Given the description of an element on the screen output the (x, y) to click on. 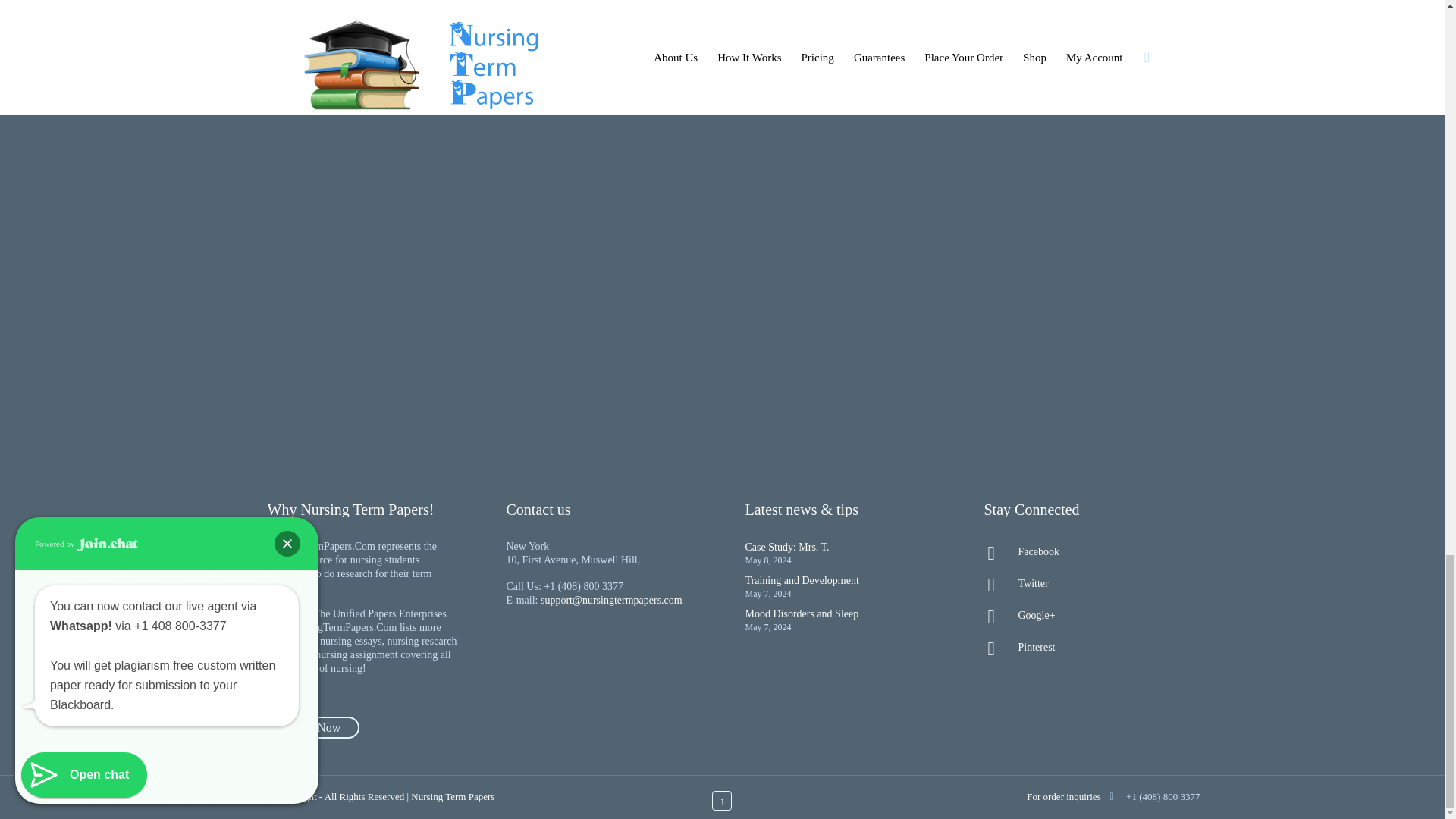
Pinterest (1080, 647)
Twitter (1080, 583)
Mood Disorders and Sleep (801, 613)
Training and Development (801, 580)
Facebook (1080, 551)
Case Study: Mrs. T. (786, 546)
